Given the description of an element on the screen output the (x, y) to click on. 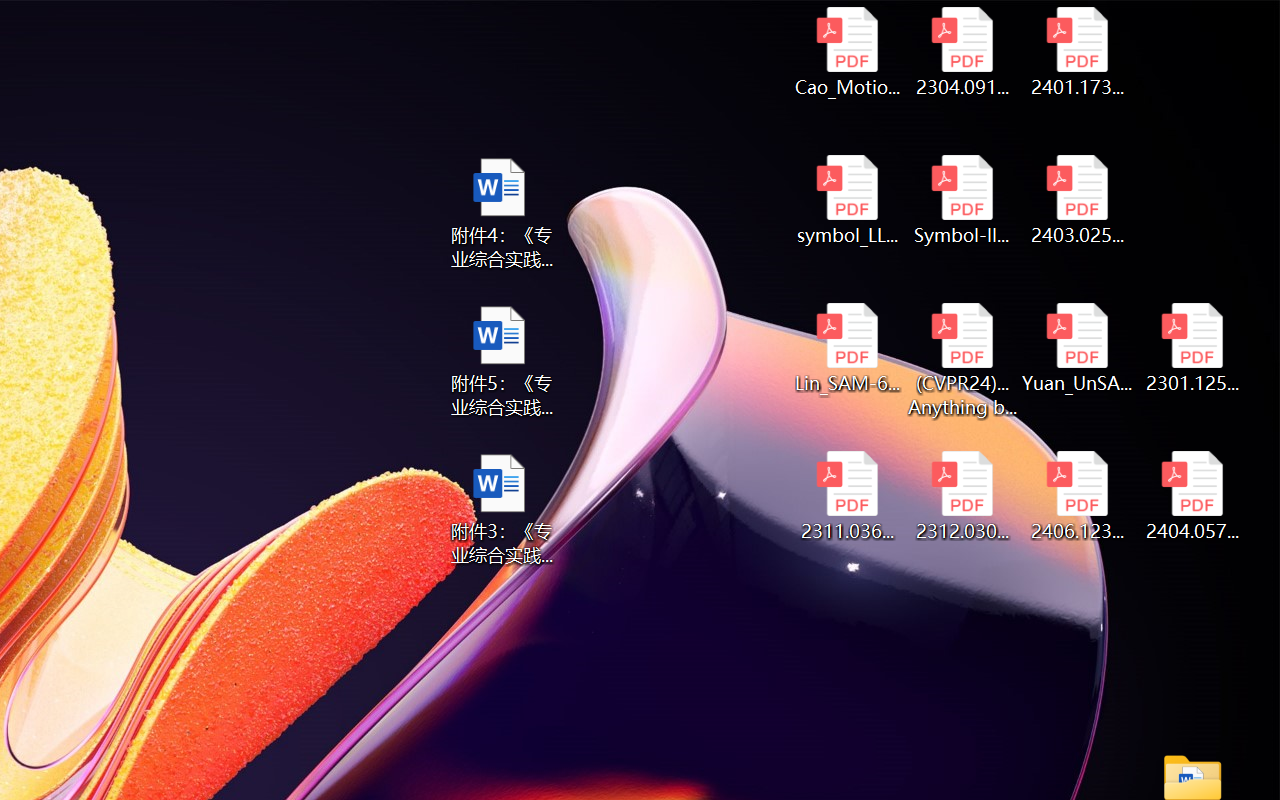
2312.03032v2.pdf (962, 496)
